Given the description of an element on the screen output the (x, y) to click on. 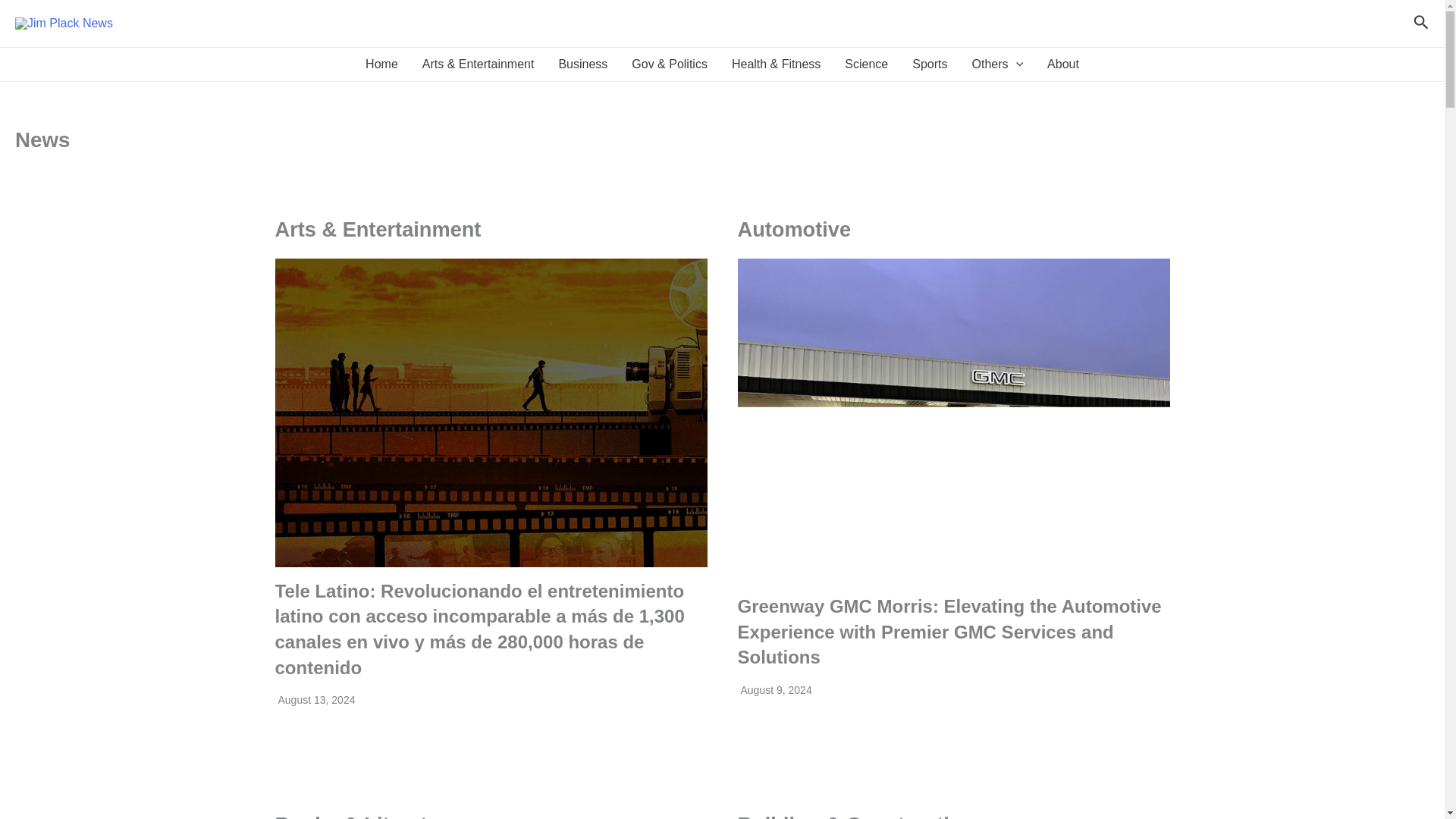
Sports (929, 64)
Home (381, 64)
Business (583, 64)
Science (865, 64)
Others (997, 64)
About (1062, 64)
